Given the description of an element on the screen output the (x, y) to click on. 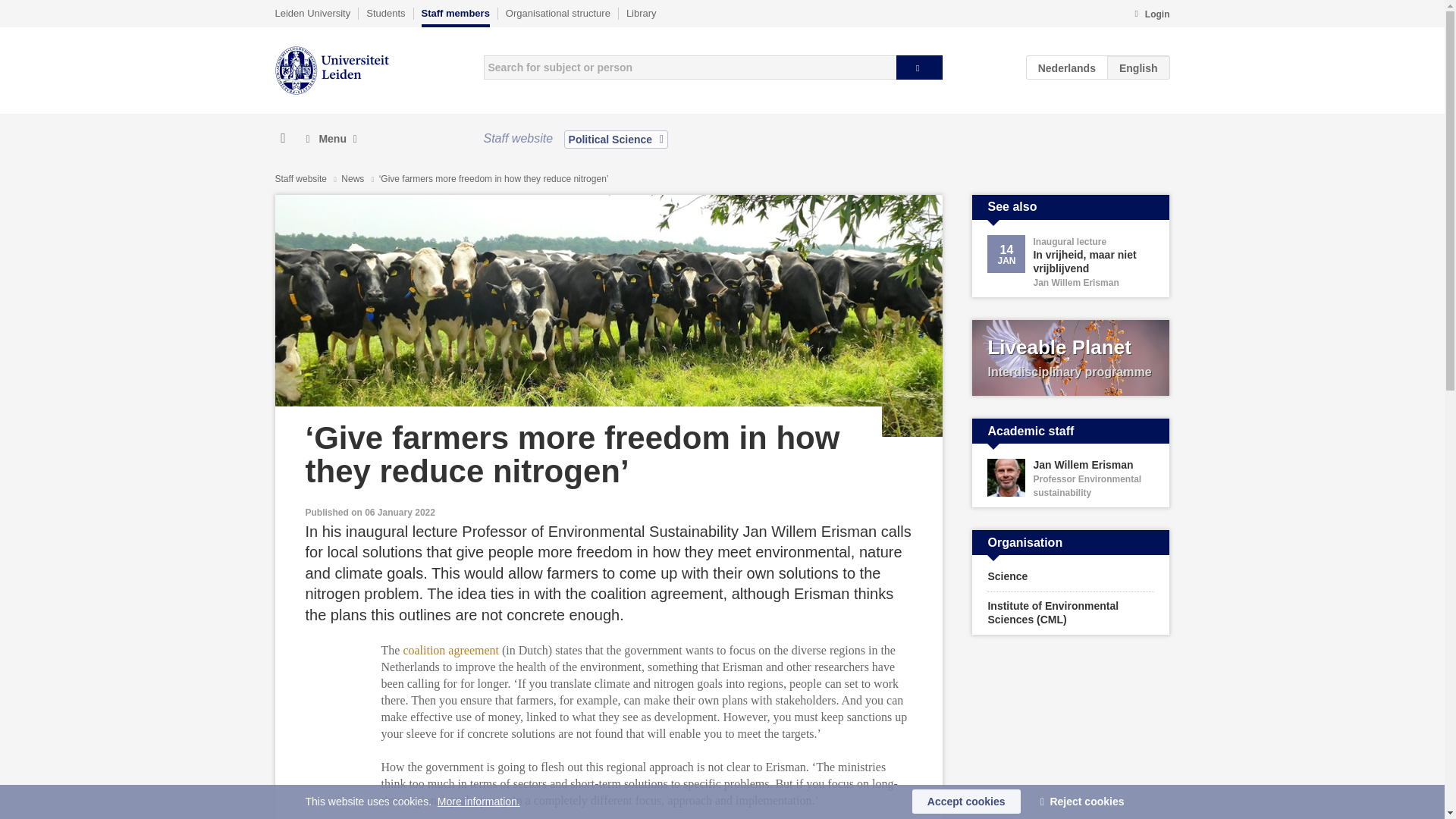
News (353, 178)
Organisational structure (557, 13)
January (1006, 260)
Search (919, 67)
Students (385, 13)
Menu (330, 139)
Leiden University (312, 13)
NL (1067, 67)
Staff members (455, 17)
Science (1070, 576)
